Given the description of an element on the screen output the (x, y) to click on. 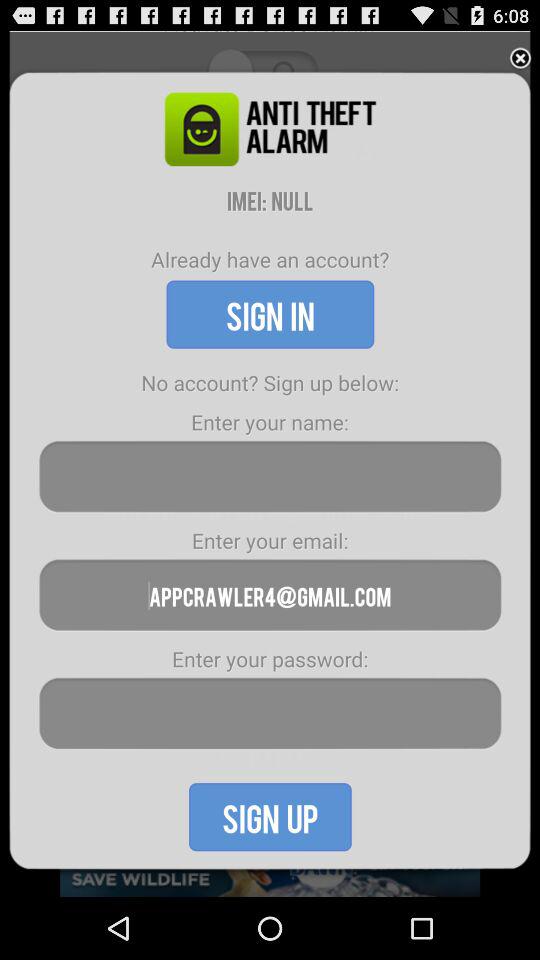
autoplay password (270, 713)
